Given the description of an element on the screen output the (x, y) to click on. 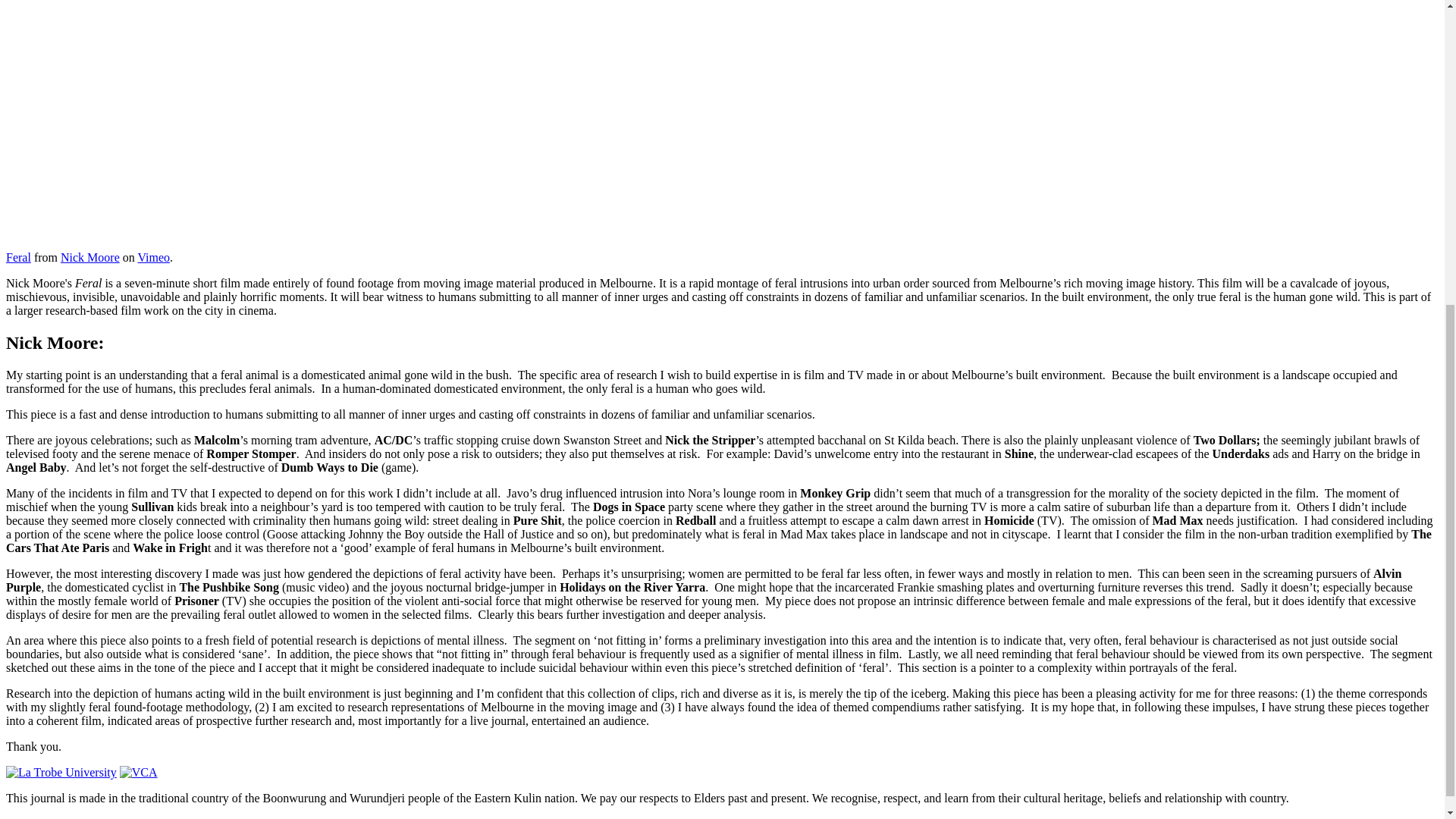
Vimeo (153, 256)
Nick Moore (90, 256)
Feral (17, 256)
